Given the description of an element on the screen output the (x, y) to click on. 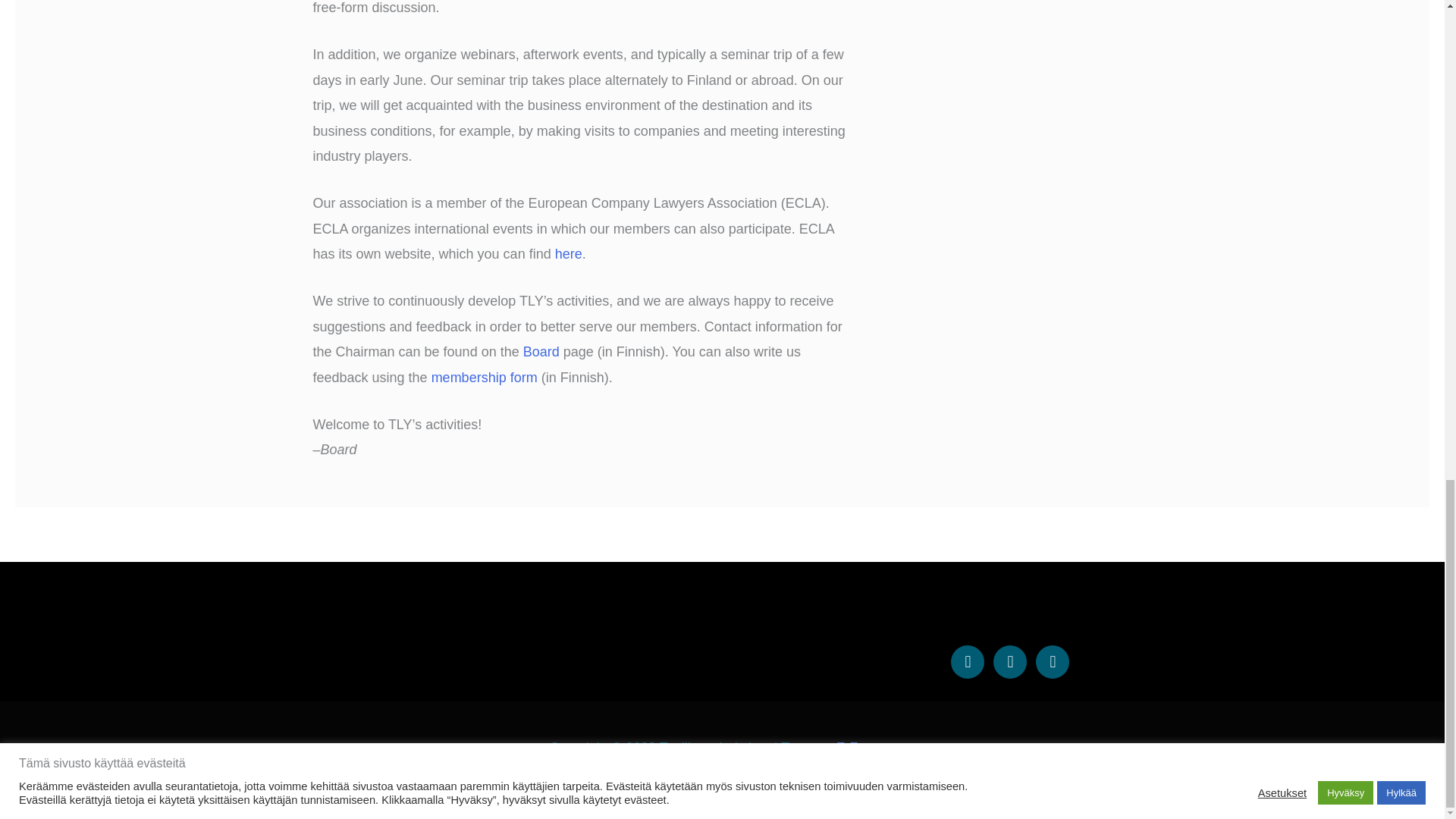
Board (540, 351)
here (568, 253)
Linkedin-in (1051, 661)
membership form (483, 377)
Facebook-f (967, 661)
Z-Factory (865, 747)
Instagram (1009, 661)
